Given the description of an element on the screen output the (x, y) to click on. 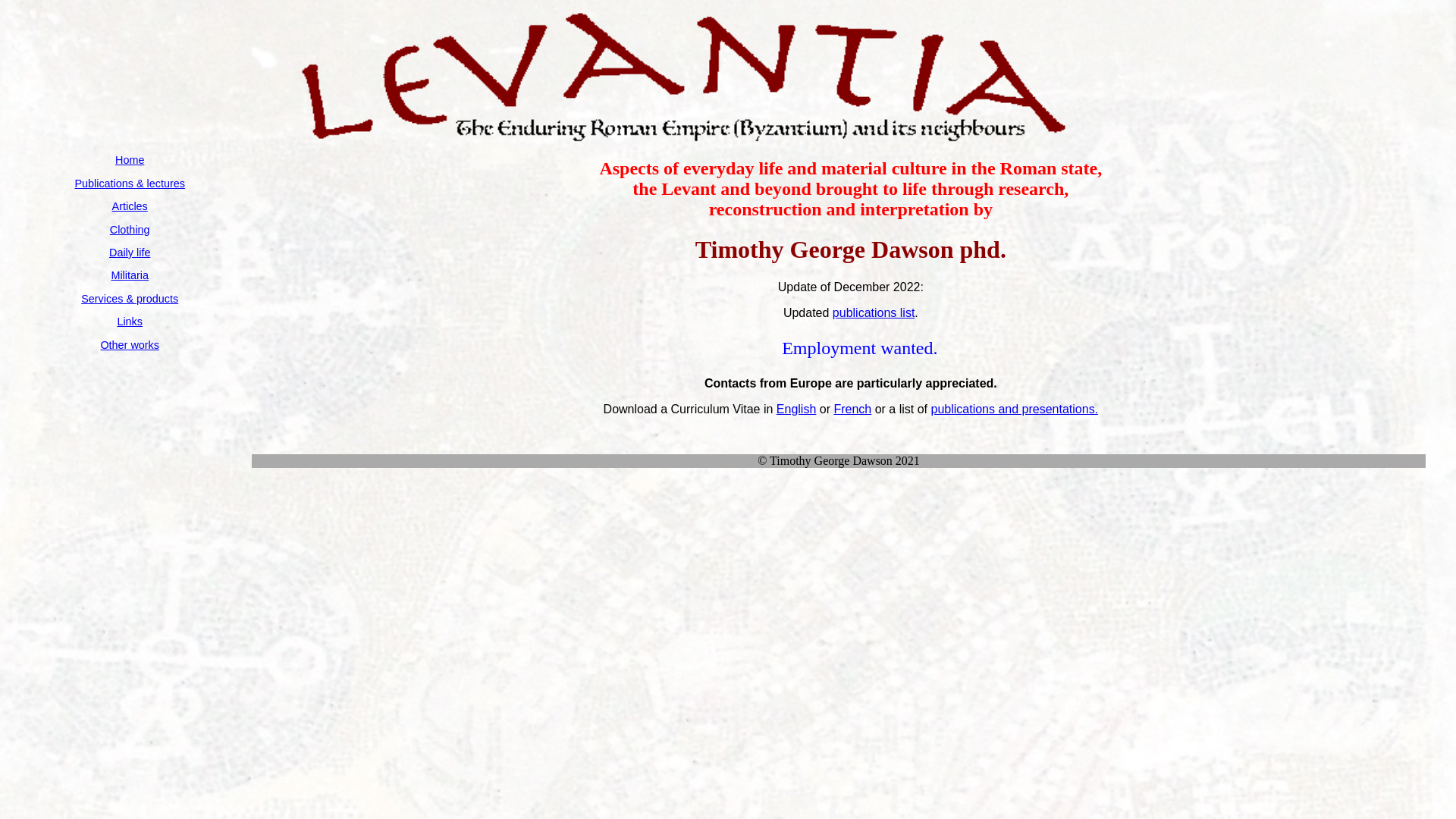
Publications & lectures Element type: text (129, 183)
Home Element type: text (129, 159)
Articles Element type: text (129, 206)
publications list Element type: text (873, 312)
Links Element type: text (129, 321)
Other works Element type: text (129, 344)
publications and presentations. Element type: text (1014, 408)
French Element type: text (852, 408)
Clothing Element type: text (129, 229)
Daily life Element type: text (129, 252)
Services & products Element type: text (129, 298)
English Element type: text (795, 408)
Militaria Element type: text (129, 275)
